Given the description of an element on the screen output the (x, y) to click on. 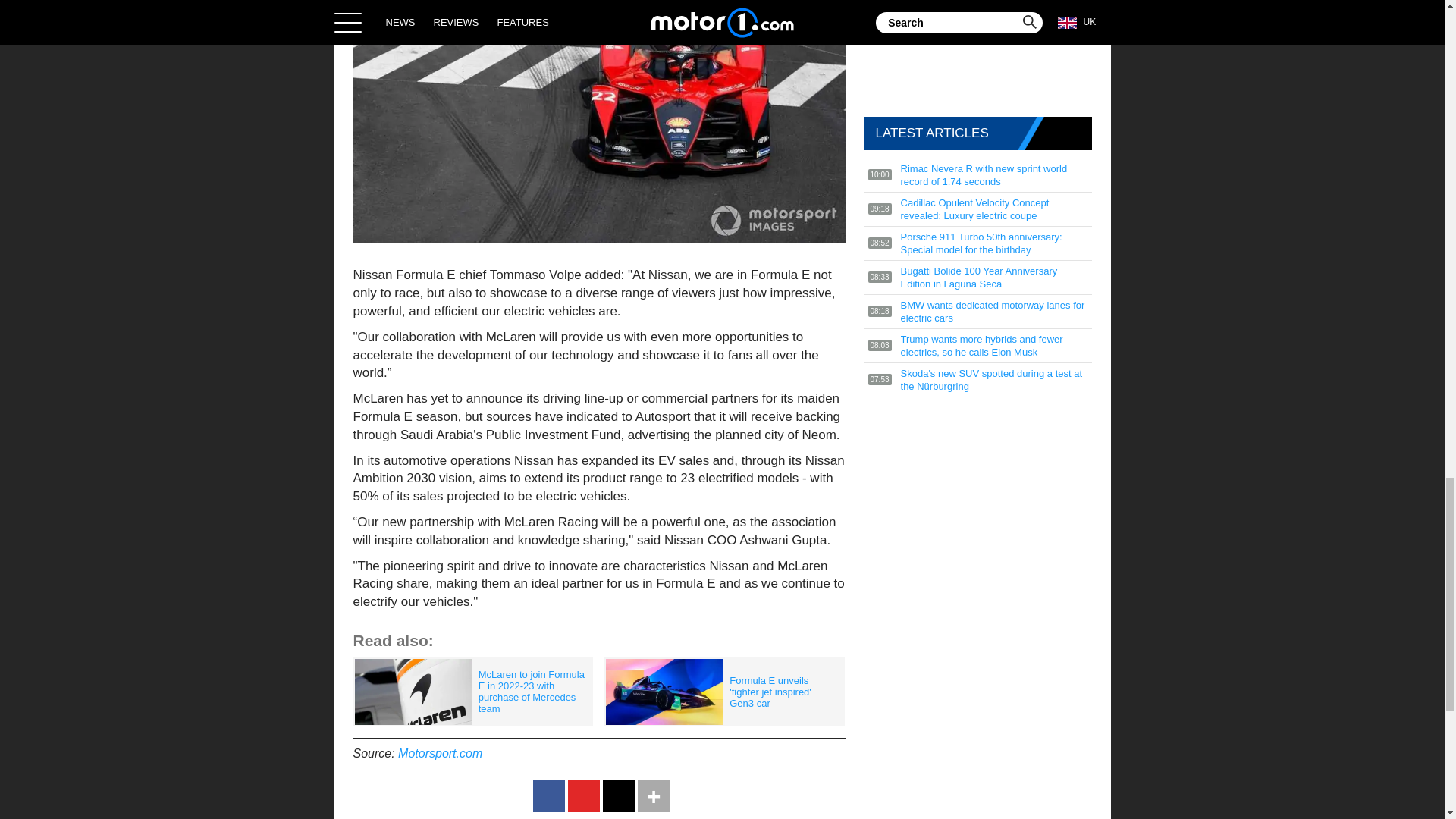
Motorsport.com (439, 753)
Formula E unveils 'fighter jet inspired' Gen3 car (724, 691)
